Given the description of an element on the screen output the (x, y) to click on. 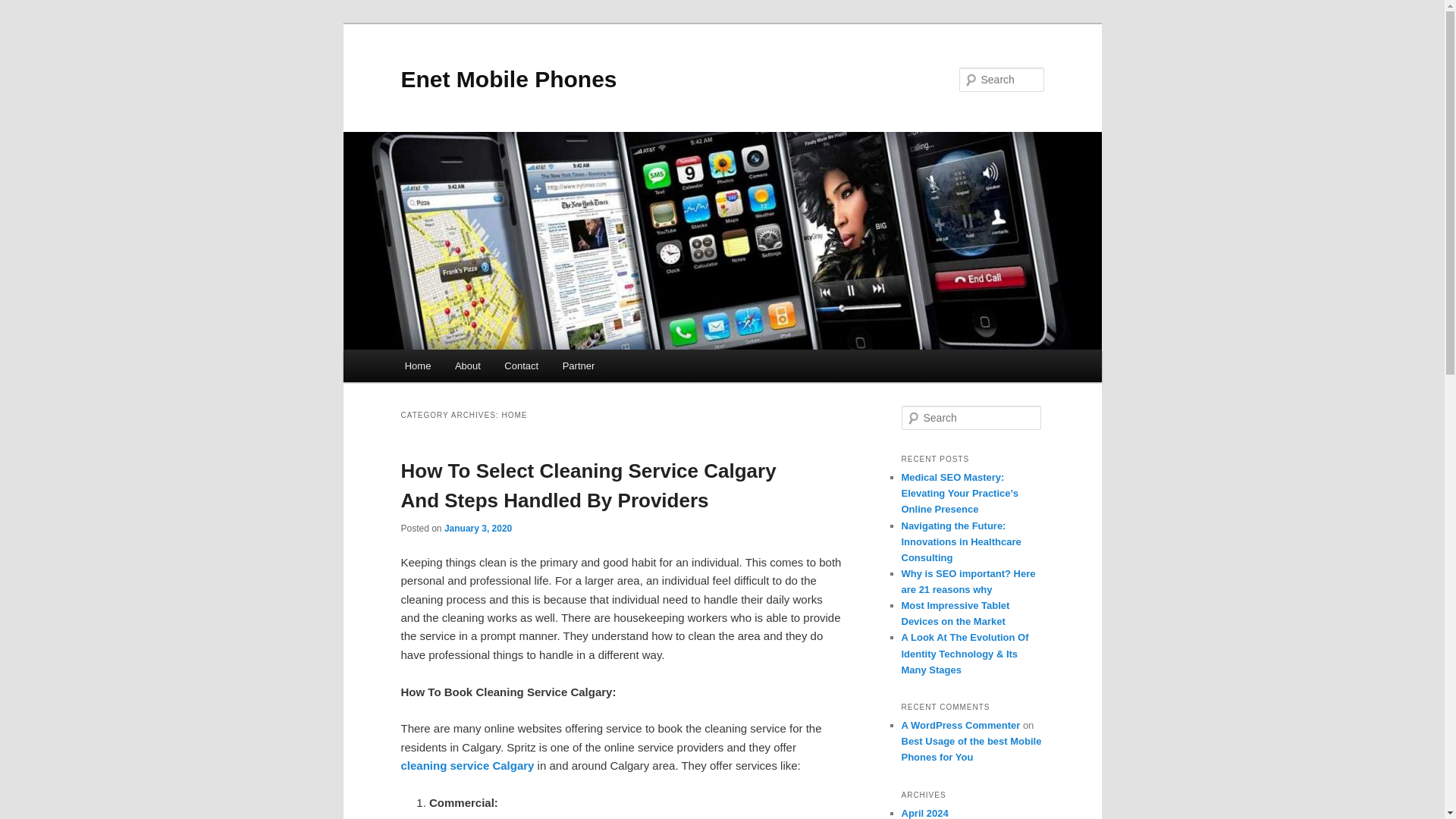
cleaning service Calgary (467, 765)
April 2024 (924, 813)
9:23 am (478, 528)
Navigating the Future: Innovations in Healthcare Consulting (960, 541)
Search (21, 11)
Most Impressive Tablet Devices on the Market  (955, 613)
Home (417, 365)
Contact (521, 365)
Partner (578, 365)
